Given the description of an element on the screen output the (x, y) to click on. 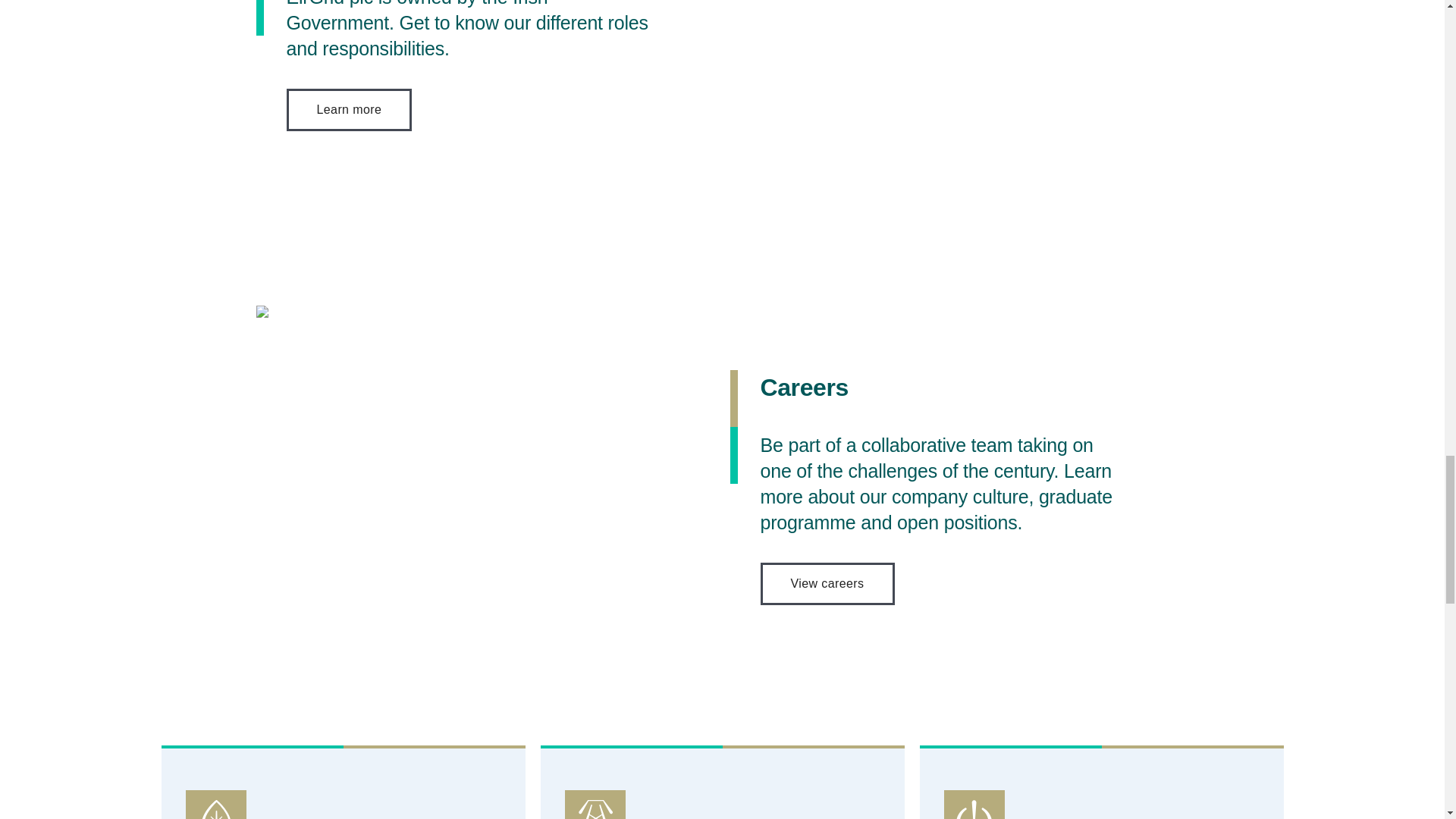
View careers (826, 583)
Learn more (349, 109)
